Given the description of an element on the screen output the (x, y) to click on. 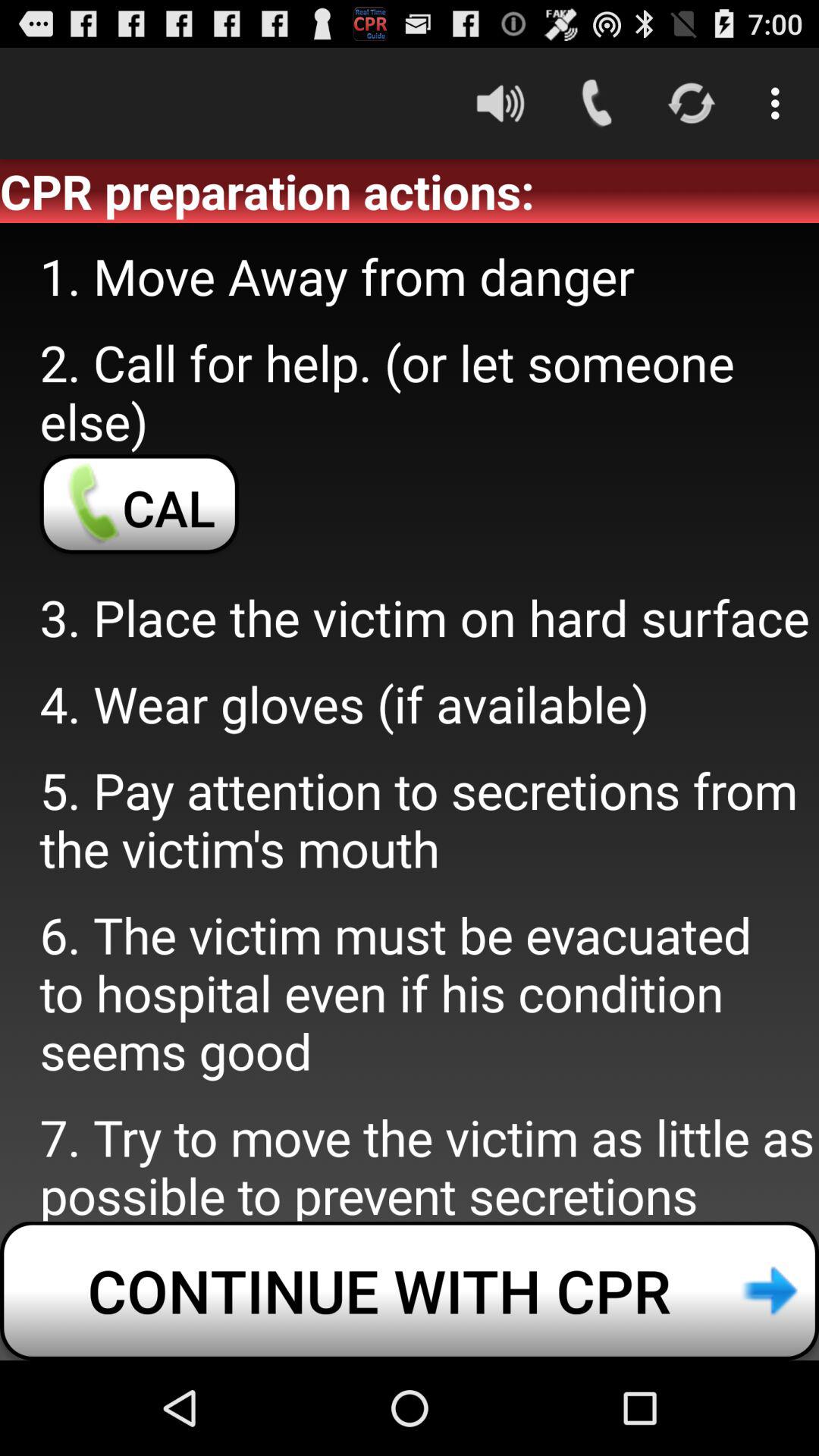
select the icon below the 7 try to icon (409, 1290)
